Given the description of an element on the screen output the (x, y) to click on. 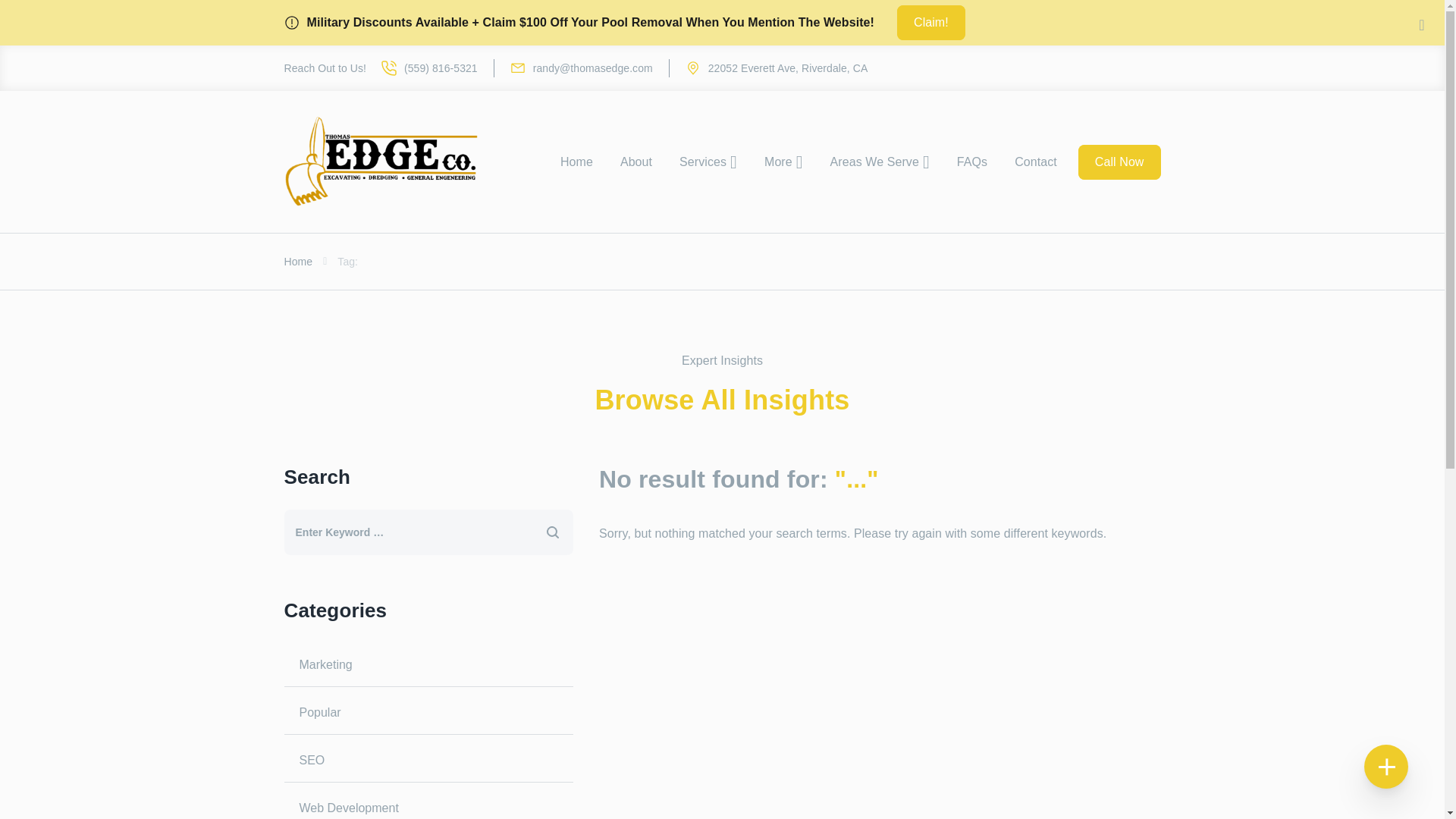
Services (708, 162)
Areas We Serve (879, 162)
Web Development (427, 802)
Call Now (1119, 161)
Home (298, 261)
FAQs (972, 162)
Home (577, 162)
Claim! (930, 22)
About (636, 162)
Marketing (427, 664)
Popular (427, 712)
SEO (427, 760)
Enter Keyword (402, 532)
More (783, 162)
Contact (1035, 162)
